Given the description of an element on the screen output the (x, y) to click on. 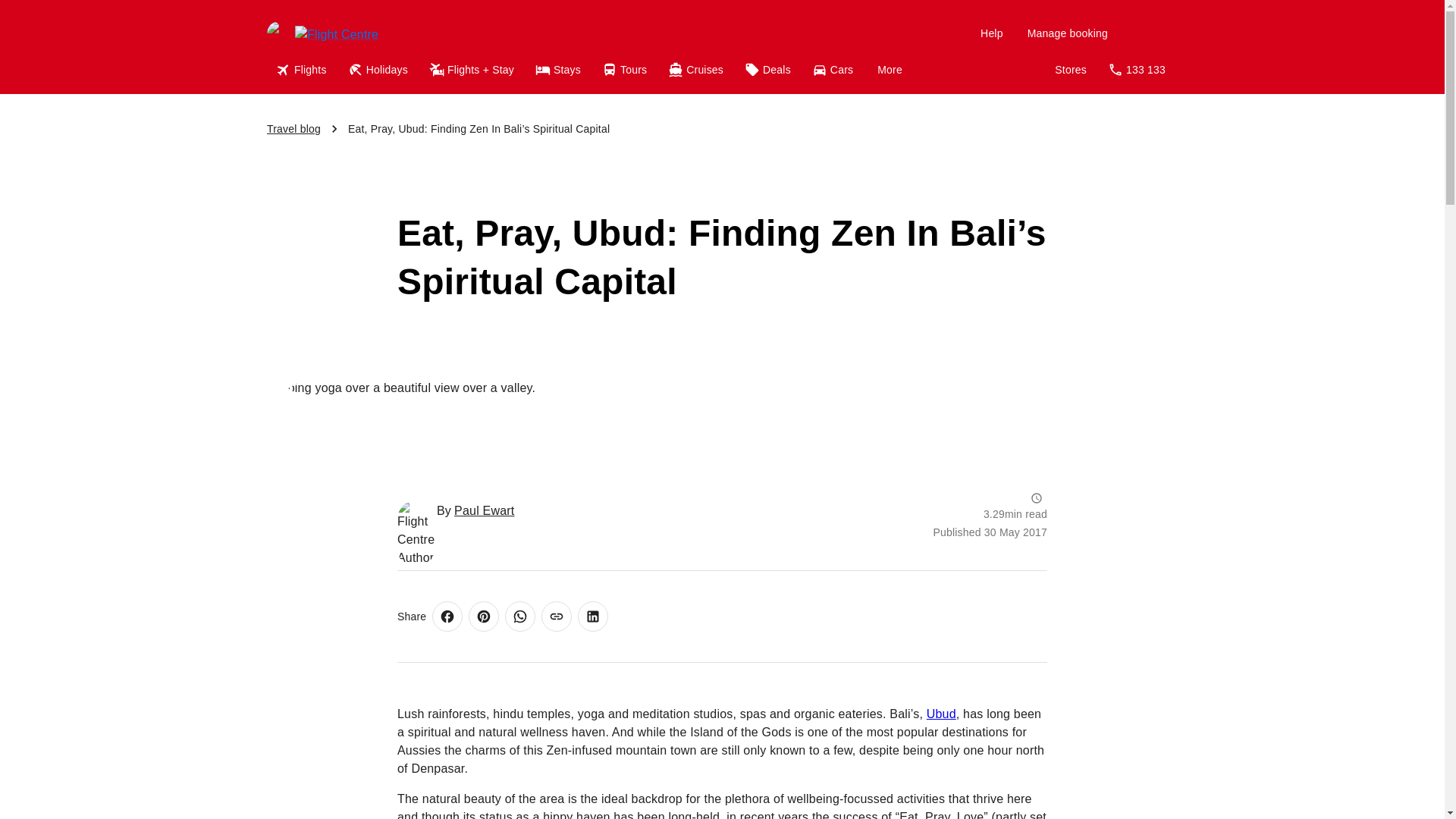
Cruises (697, 69)
Flights (302, 69)
Flights (302, 69)
Manage booking (1066, 33)
Deals (769, 69)
Paul Ewart (483, 511)
Flight Centre (370, 32)
Stores (1070, 69)
133 133 (1138, 69)
Manage booking (1066, 33)
Holidays (379, 69)
Holidays (379, 69)
Cruises (697, 69)
Help (991, 33)
Travel blog (293, 128)
